Given the description of an element on the screen output the (x, y) to click on. 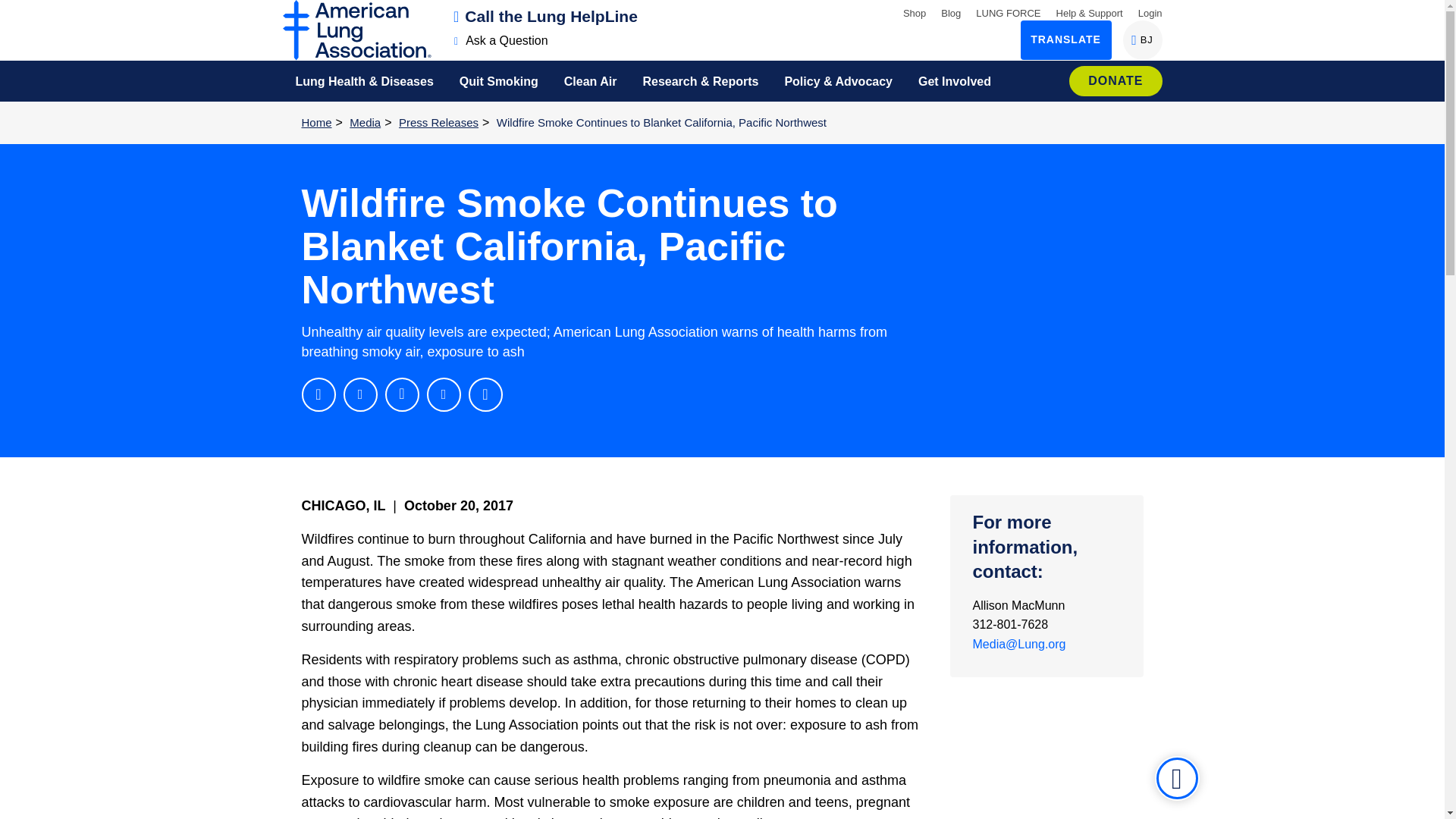
TRANSLATE (1066, 39)
Ask a Question (501, 40)
Shop (914, 13)
Call the Lung HelpLine (545, 16)
Login (1141, 39)
Blog (1149, 13)
LUNG FORCE (950, 13)
SKIP TO MAIN CONTENT (1008, 13)
